Given the description of an element on the screen output the (x, y) to click on. 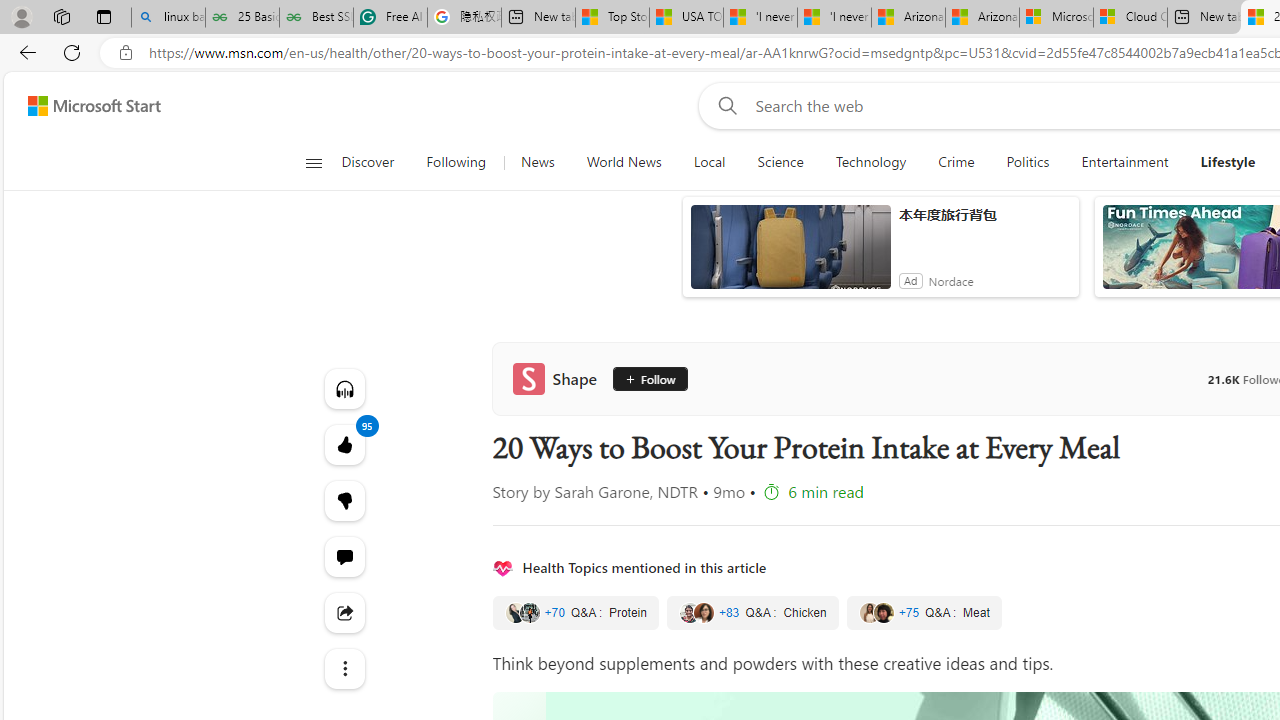
Chicken (751, 613)
Cloud Computing Services | Microsoft Azure (1130, 17)
Meat (924, 613)
Top Stories - MSN (612, 17)
Shape (558, 378)
Protein (575, 613)
Listen to this article (343, 388)
